Given the description of an element on the screen output the (x, y) to click on. 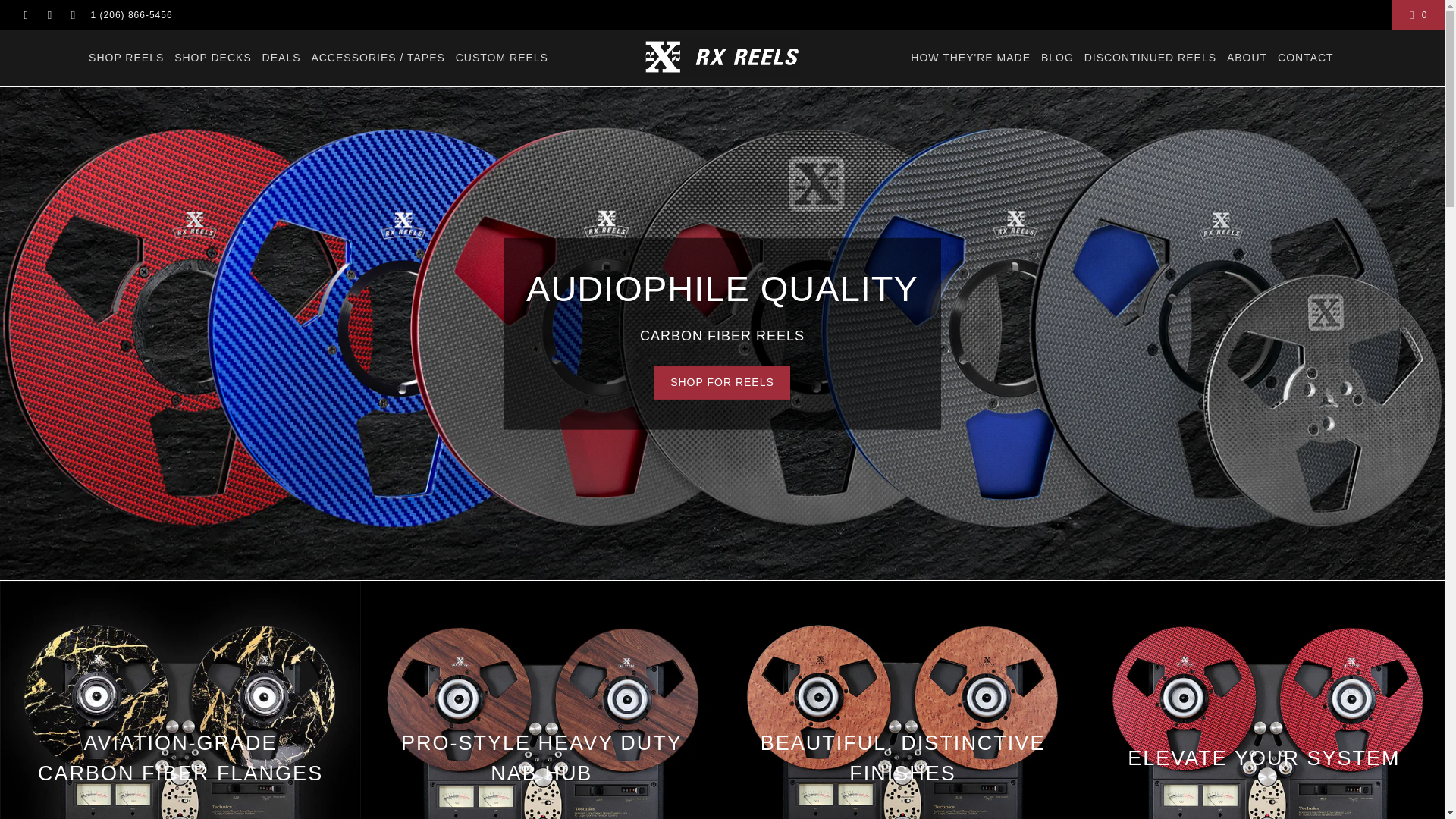
BLOG (1057, 58)
ABOUT (1246, 58)
RX Reels (722, 57)
RX Reels on YouTube (48, 14)
RX Reels on Facebook (25, 14)
CUSTOM REELS (501, 58)
RX Reels on Instagram (71, 14)
SHOP DECKS (212, 58)
DEALS (281, 58)
CONTACT (1305, 58)
DISCONTINUED REELS (1149, 58)
SHOP REELS (125, 58)
HOW THEY'RE MADE (970, 58)
